Given the description of an element on the screen output the (x, y) to click on. 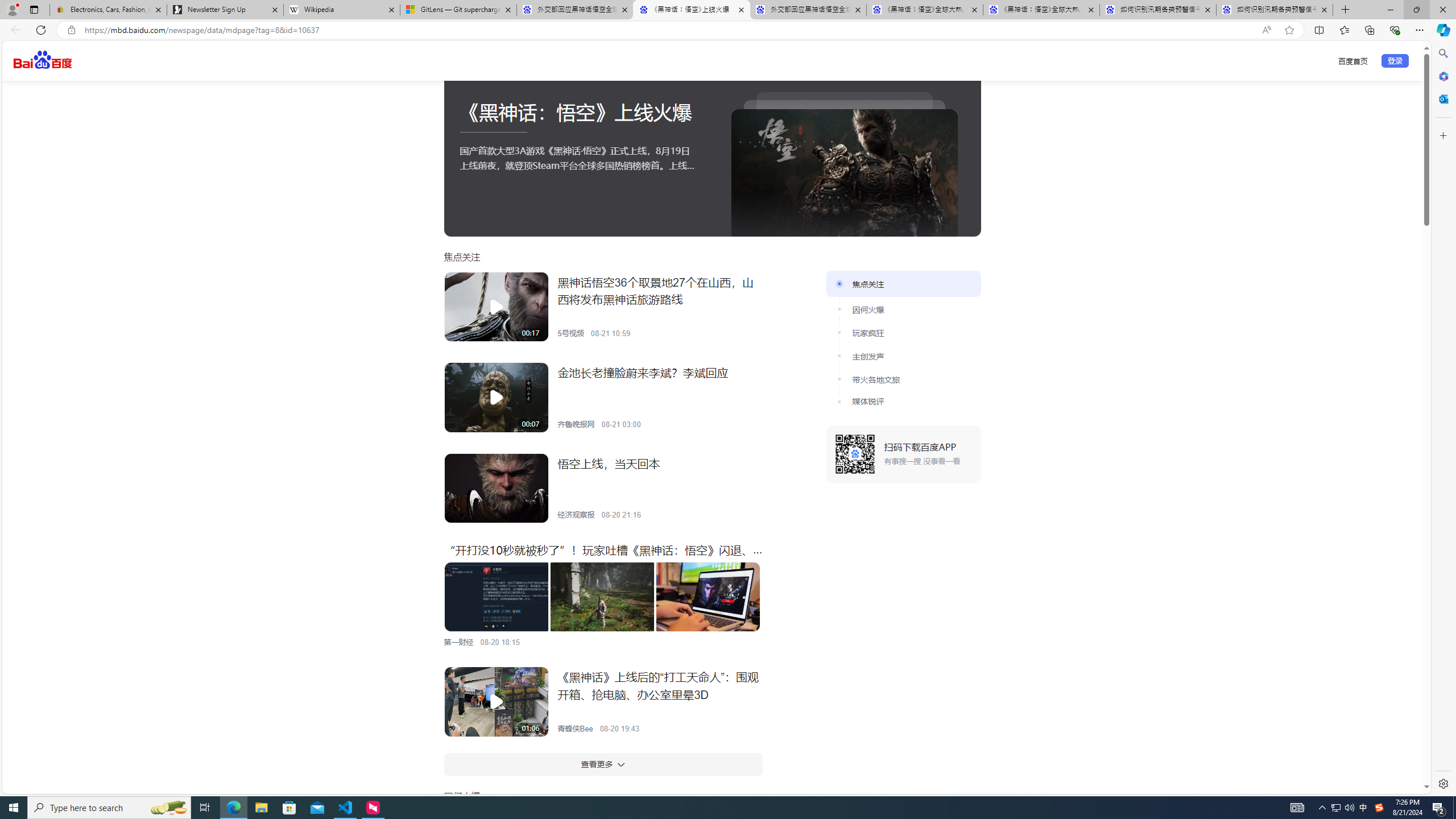
Newsletter Sign Up (224, 9)
Class: w-icon pc-image-default-icon (496, 701)
Class: w-icon pc-image-mask-icon (495, 701)
